Given the description of an element on the screen output the (x, y) to click on. 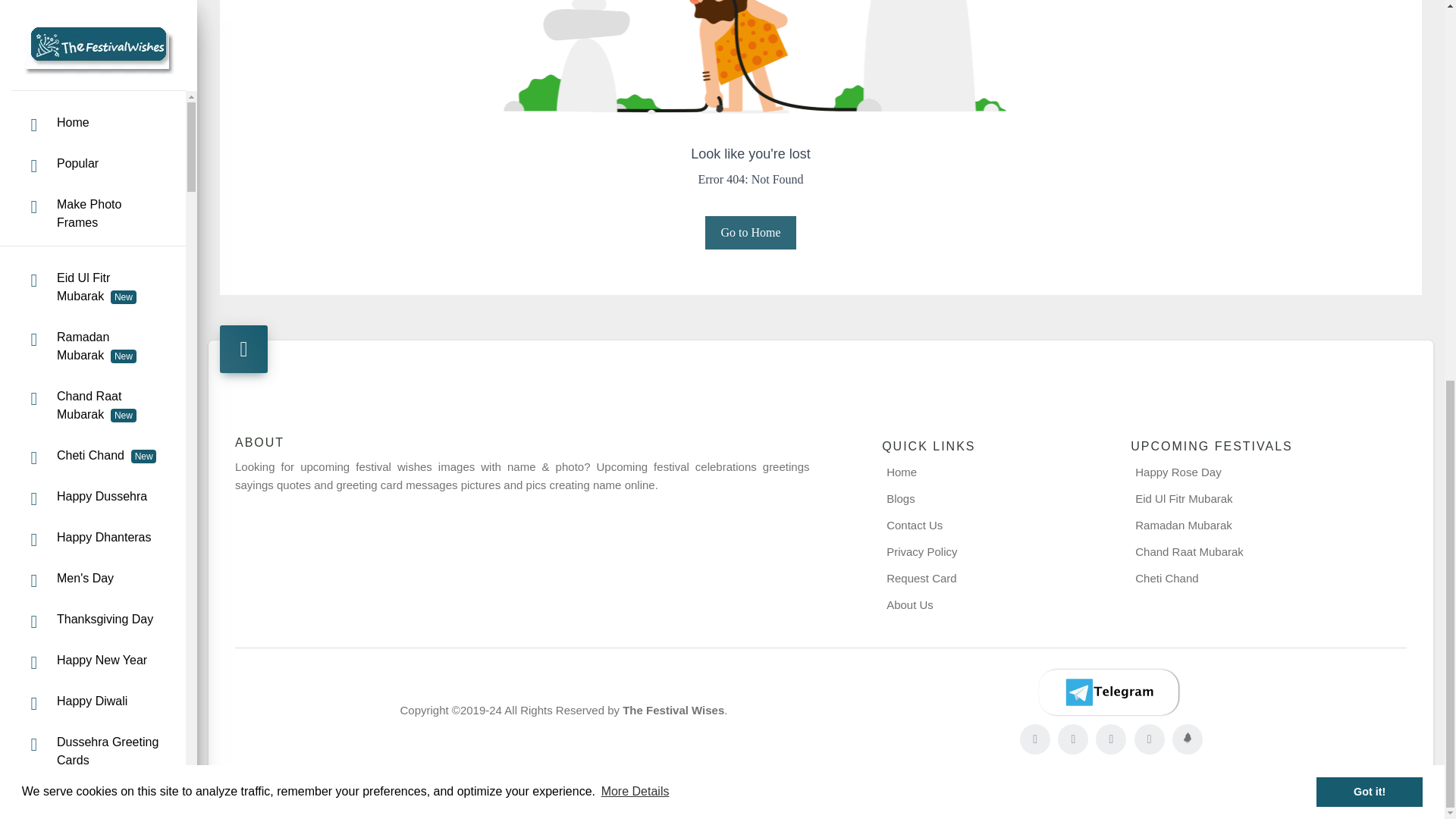
26th January (92, 216)
Happy Dhuleti (92, 521)
Pongal Geeting Card (92, 266)
Happy Diwali (92, 5)
Happy Holi (92, 480)
Got it! (1369, 83)
Basant Panchami (92, 316)
Halloween (92, 93)
Dussehra Greeting Cards (92, 43)
Mahavir Jayanti (92, 439)
Womens Day (92, 357)
Valentine'S Week (92, 603)
Halloween (92, 93)
Dussehra Greeting Cards (92, 43)
More Details (634, 83)
